Given the description of an element on the screen output the (x, y) to click on. 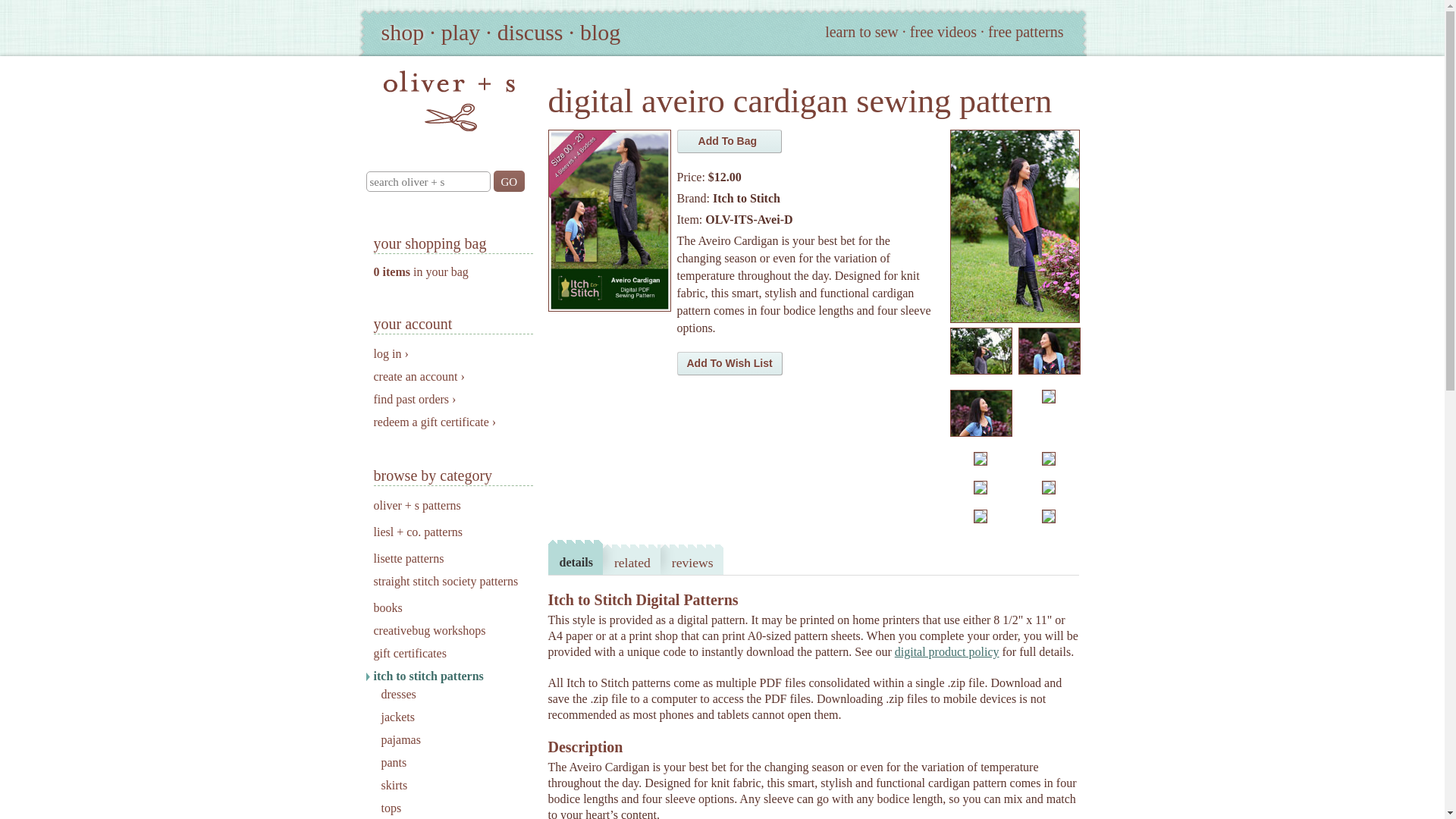
free patterns (1025, 31)
discuss (530, 32)
blog (599, 32)
shop (401, 32)
Add To Wish List (729, 363)
learn to sew (861, 31)
play (460, 32)
go (508, 180)
